Given the description of an element on the screen output the (x, y) to click on. 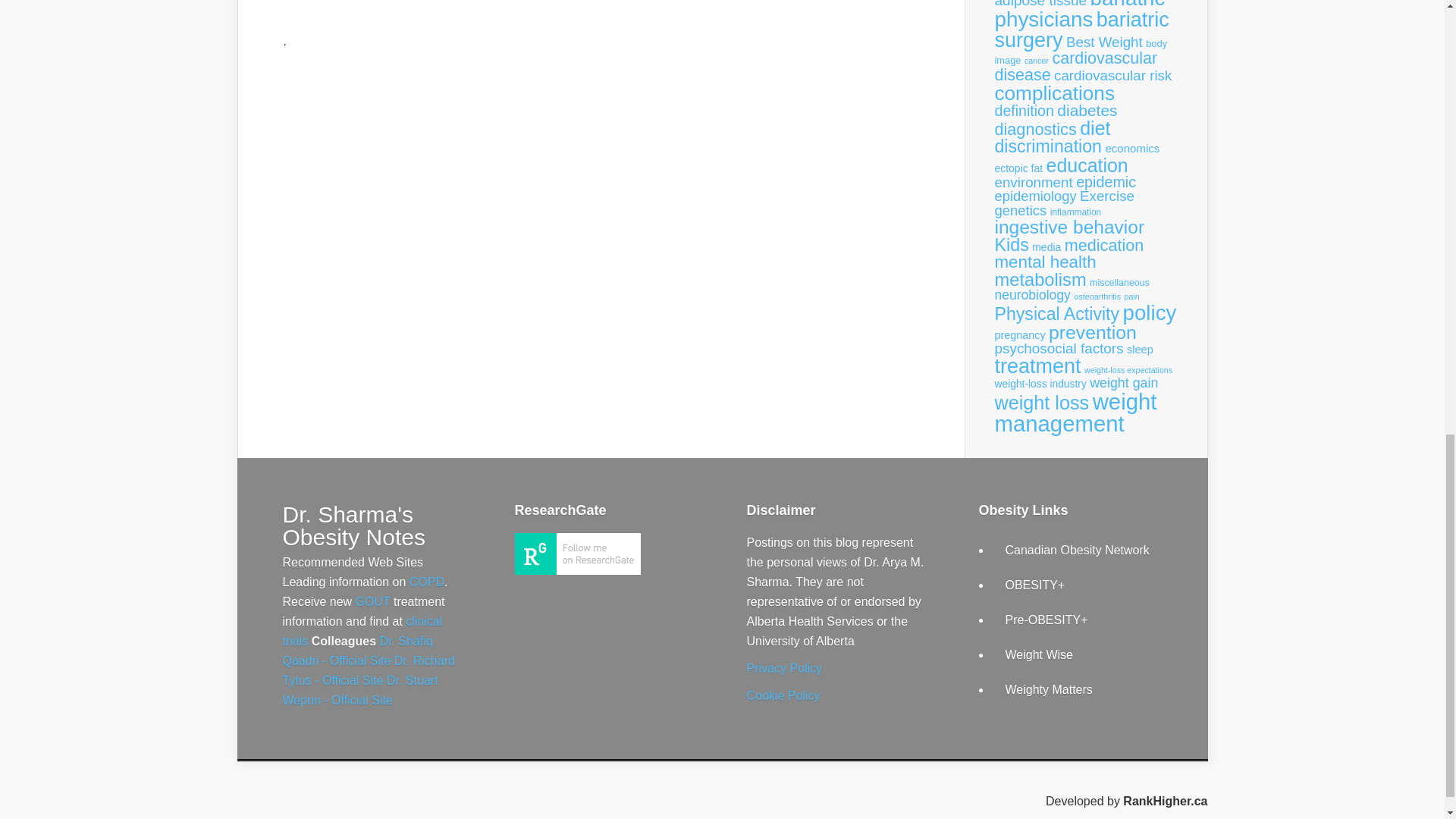
adipose tissue (1040, 4)
COPD (426, 581)
cardiovascular risk (1113, 75)
epidemiology (1035, 195)
education (1087, 165)
Weighty Matters (1049, 689)
cardiovascular disease (1075, 66)
ectopic fat (1018, 168)
Best Weight (1103, 41)
body image (1080, 51)
